Given the description of an element on the screen output the (x, y) to click on. 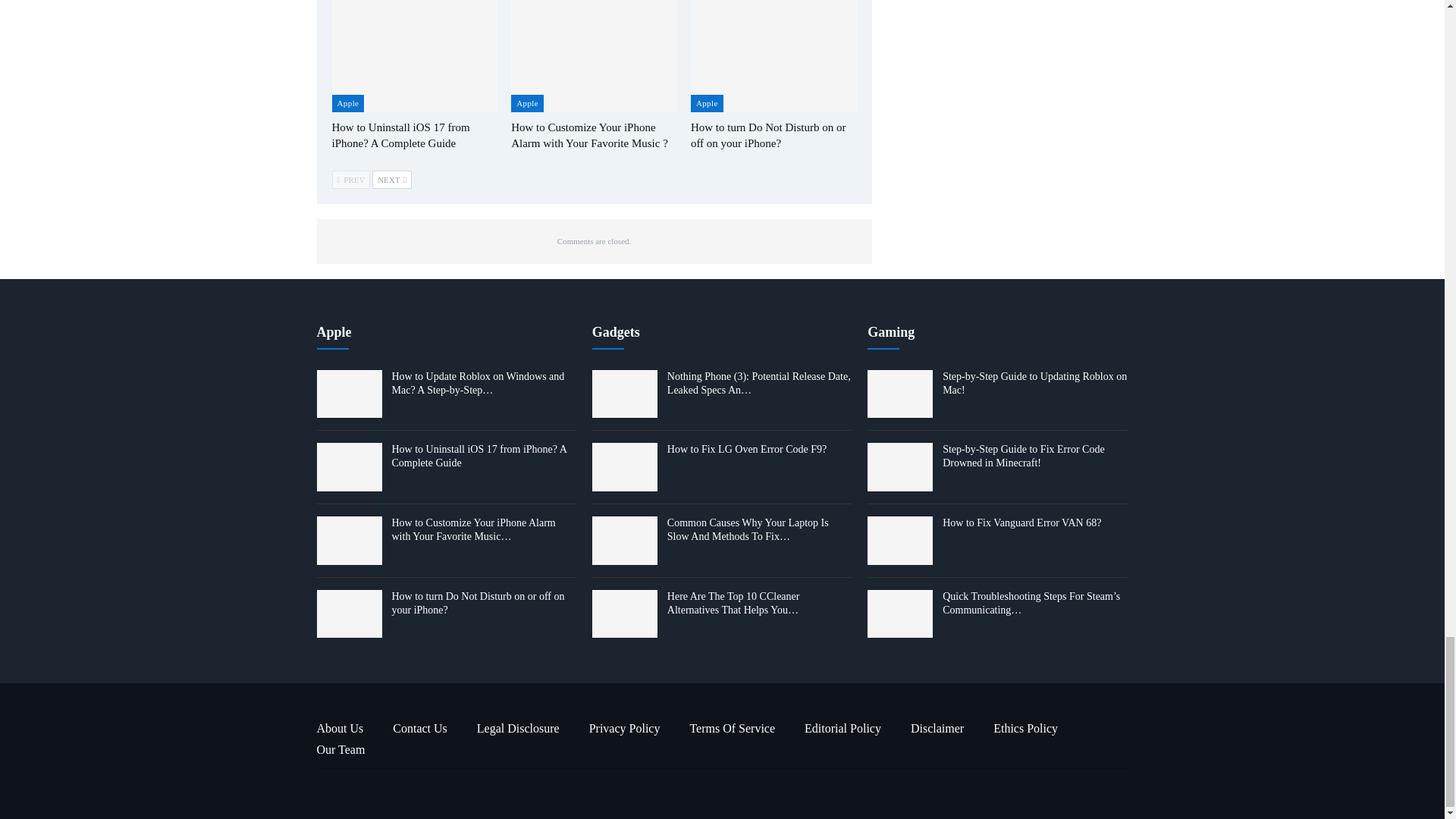
How to Uninstall iOS 17 from iPhone? A Complete Guide (414, 56)
How to Uninstall iOS 17 from iPhone? A Complete Guide (400, 135)
